Given the description of an element on the screen output the (x, y) to click on. 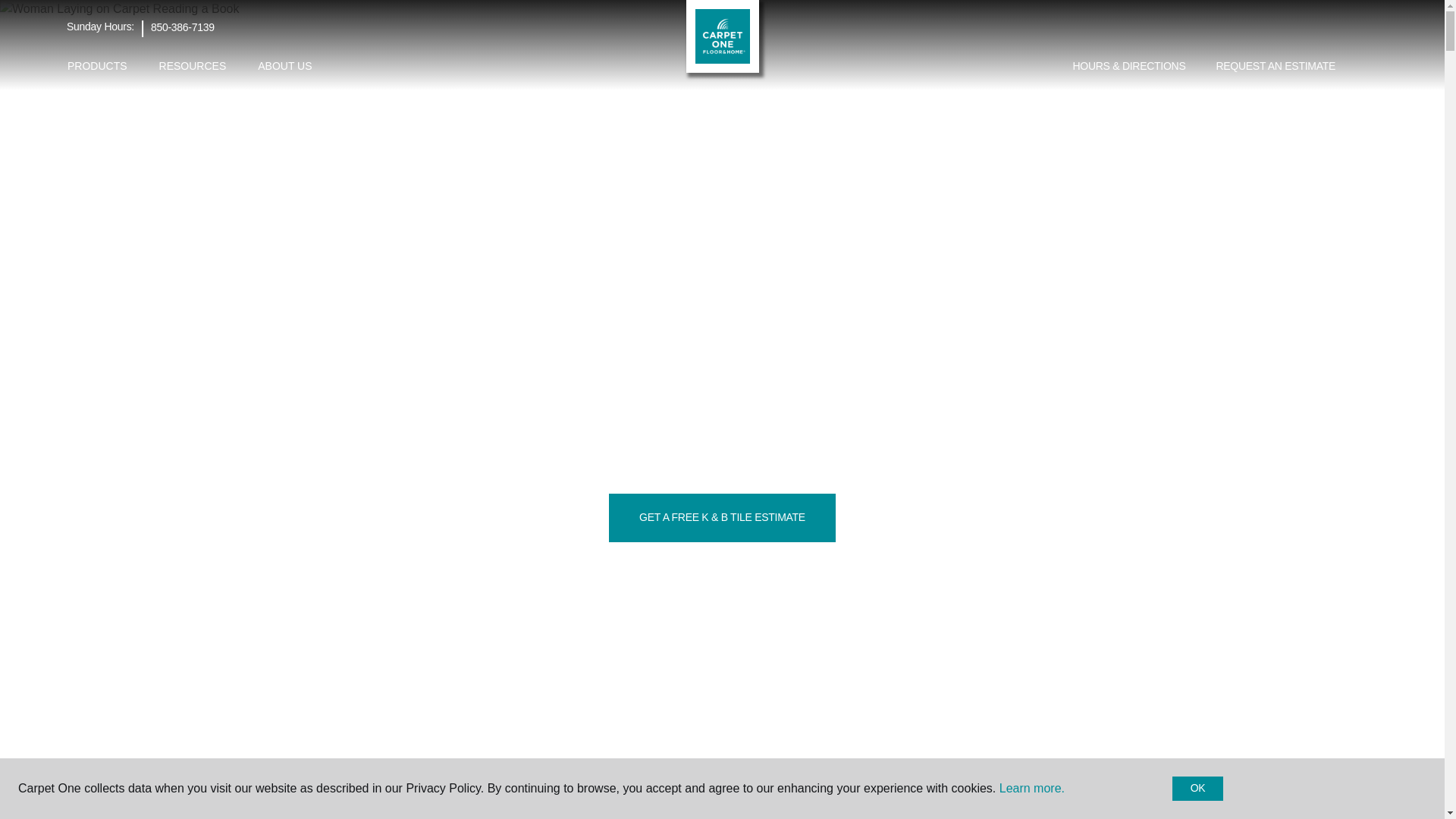
850-386-7139 (182, 27)
PRODUCTS (97, 66)
ABOUT US (284, 66)
RESOURCES (193, 66)
REQUEST AN ESTIMATE (1276, 66)
